Given the description of an element on the screen output the (x, y) to click on. 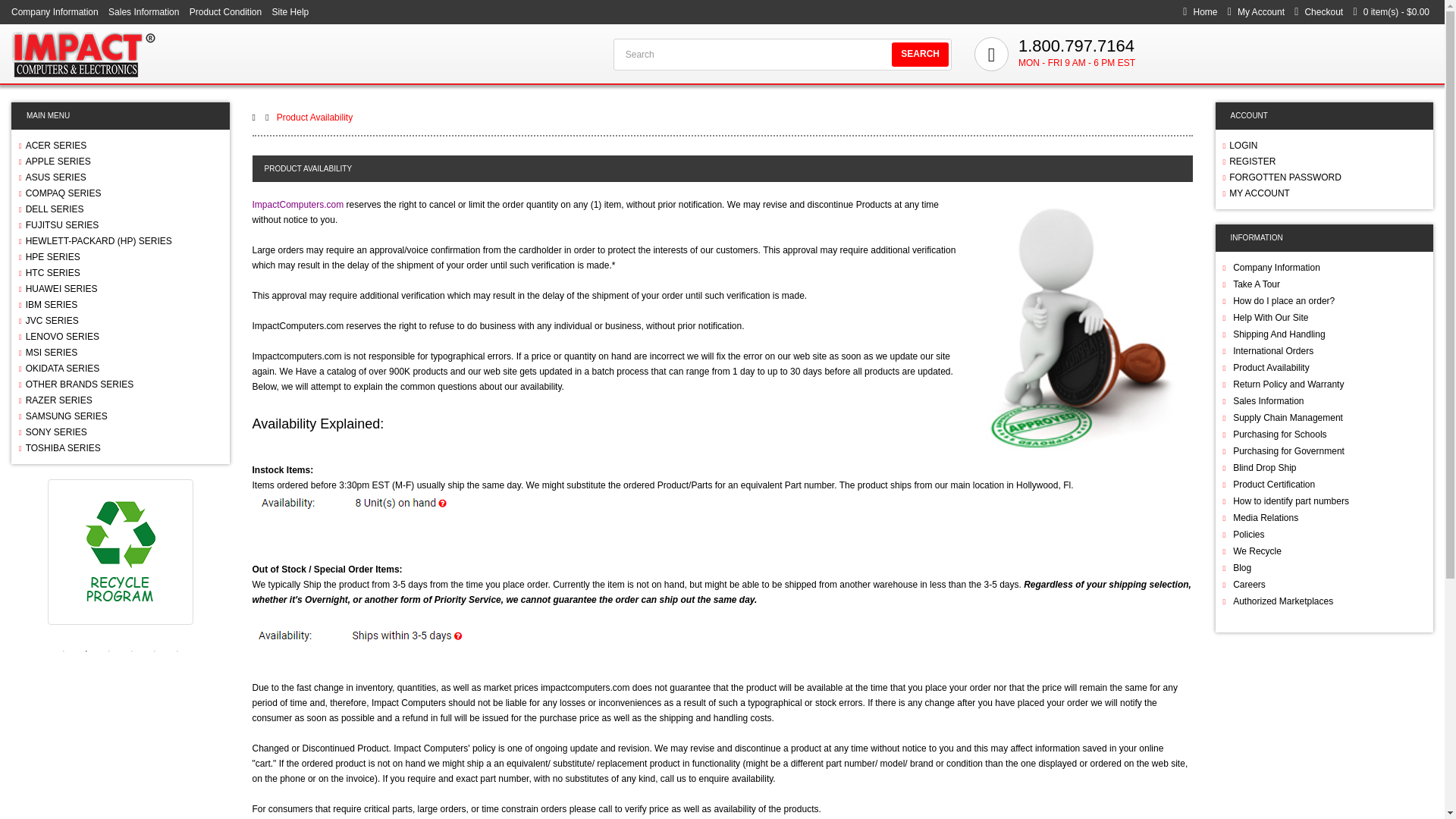
IBM SERIES (120, 304)
MSI SERIES (120, 352)
Home (1204, 11)
Product Condition (225, 11)
Site Help (290, 11)
Sales Information (143, 11)
Company Information (55, 11)
OTHER BRANDS SERIES (120, 384)
RAZER SERIES (120, 400)
Shopping Cart (1390, 11)
ACER SERIES (120, 145)
FUJITSU SERIES (120, 225)
APPLE SERIES (120, 161)
SEARCH (920, 54)
IMPACT Computers (83, 53)
